Given the description of an element on the screen output the (x, y) to click on. 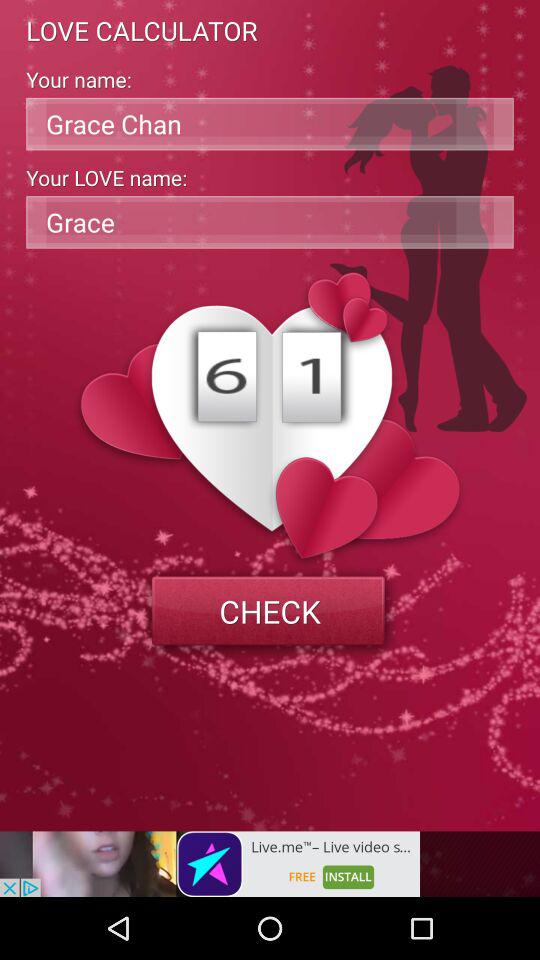
advertisement (210, 864)
